Given the description of an element on the screen output the (x, y) to click on. 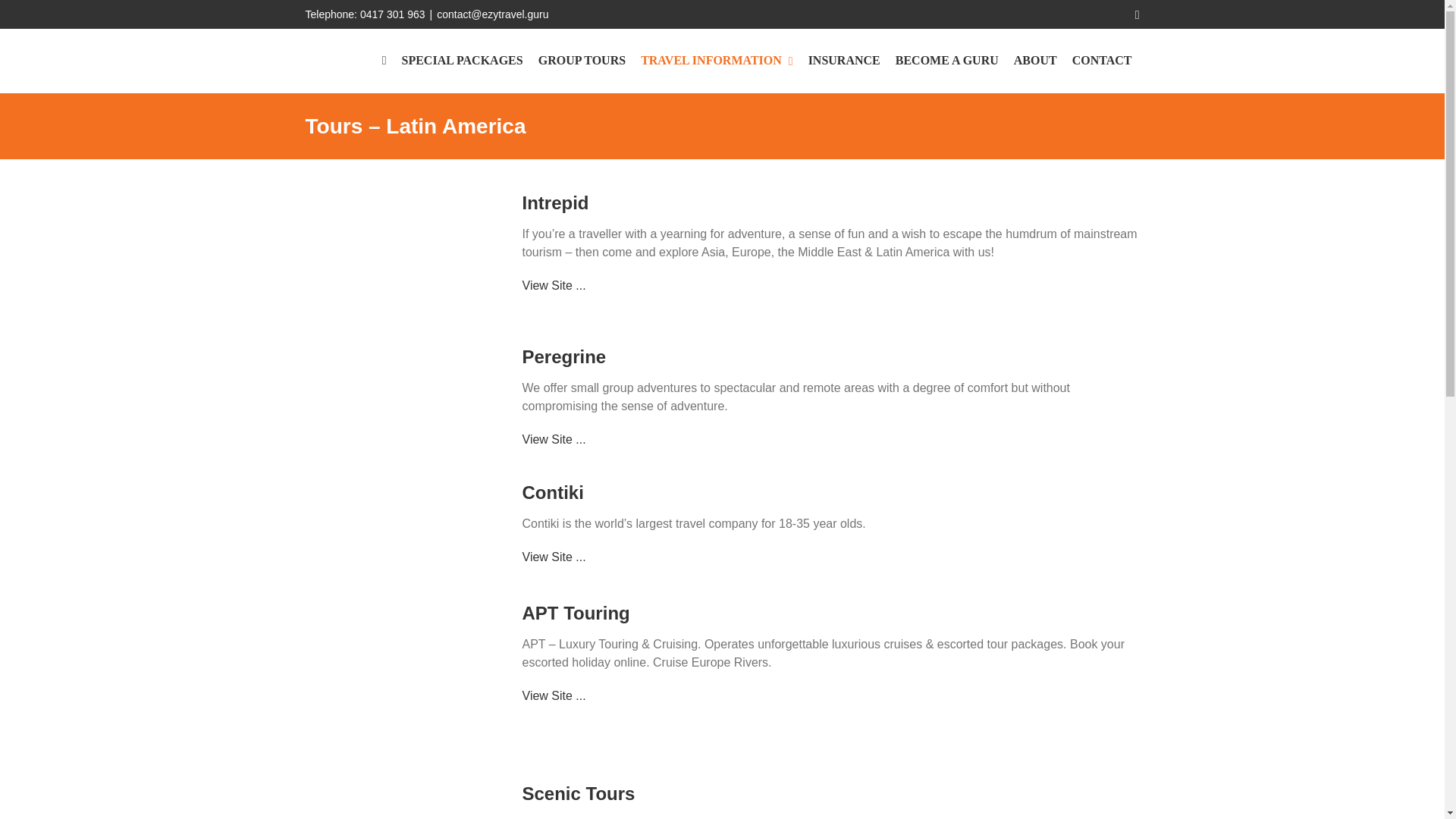
ABOUT (1035, 60)
BECOME A GURU (947, 60)
GROUP TOURS (582, 60)
INSURANCE (844, 60)
0417 301 963 (392, 14)
CONTACT (1102, 60)
TRAVEL INFORMATION (716, 60)
SPECIAL PACKAGES (462, 60)
